Given the description of an element on the screen output the (x, y) to click on. 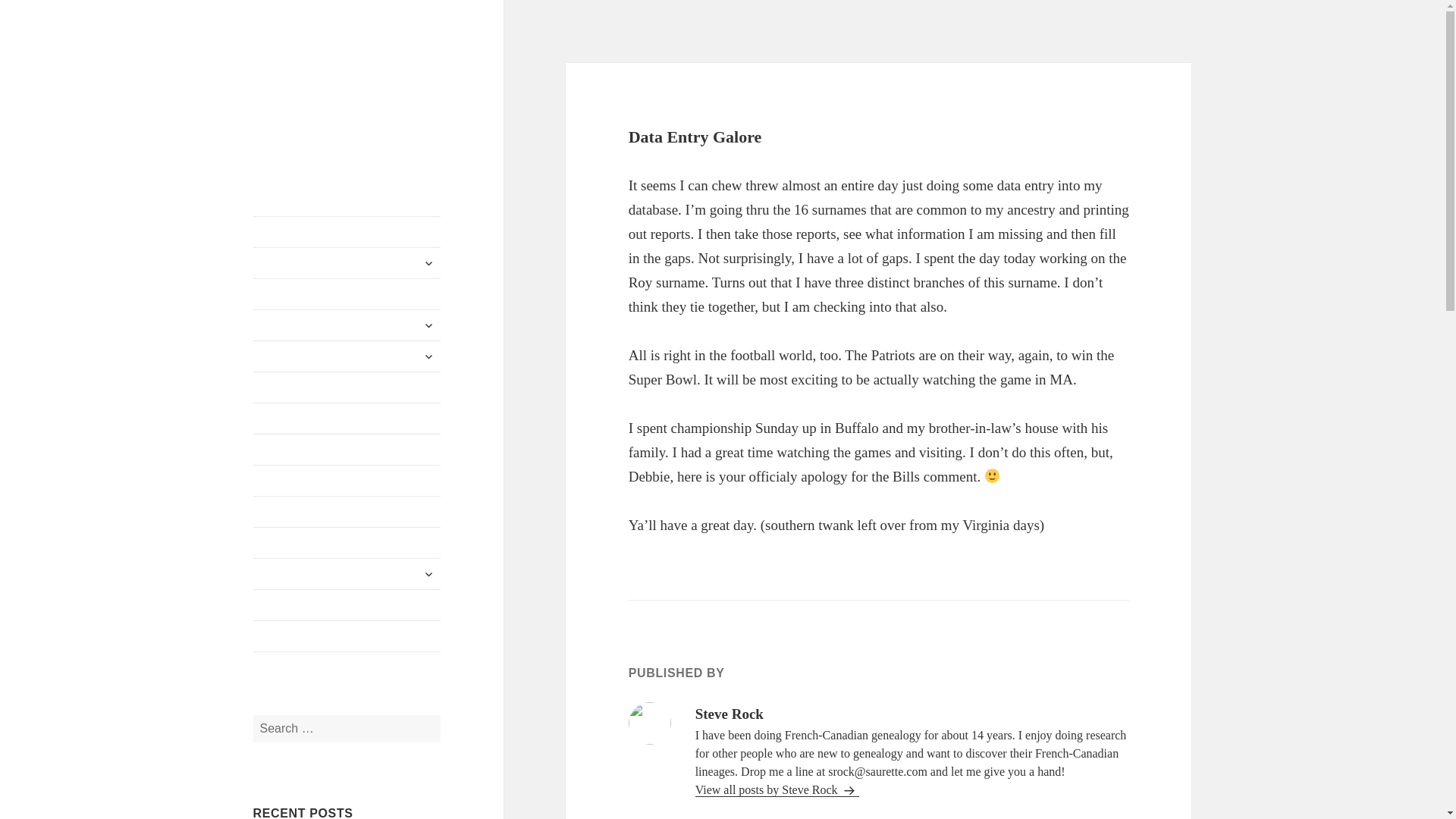
Saurette and Oligny Genealogy (340, 86)
My Saurette Ancestral Line (347, 232)
Oligny Ancestry (347, 325)
My Oligny Ancestral Line (347, 294)
expand child menu (428, 324)
expand child menu (428, 262)
All my Genealogy Information (347, 387)
Saurette Ancestry (347, 263)
